Given the description of an element on the screen output the (x, y) to click on. 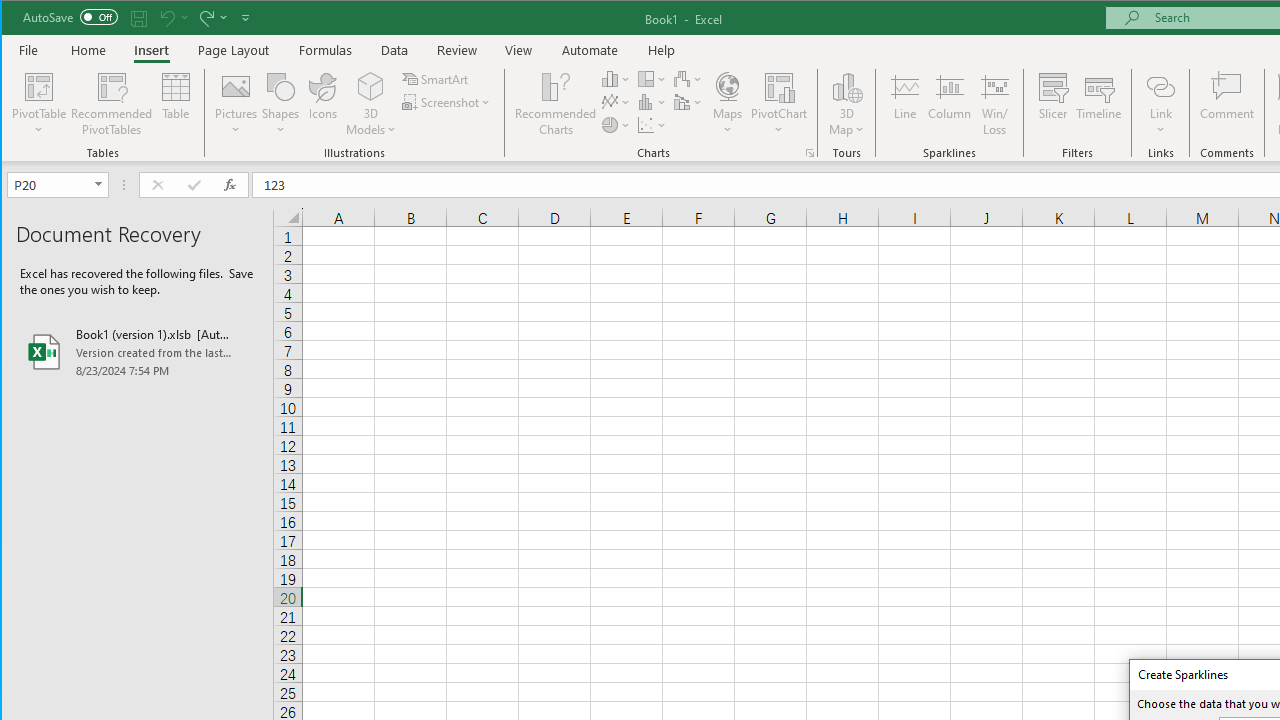
Timeline (1098, 104)
Table (175, 104)
Insert Column or Bar Chart (616, 78)
Recommended PivotTables (111, 104)
Pictures (235, 104)
Insert Line or Area Chart (616, 101)
Maps (727, 104)
Insert Statistic Chart (652, 101)
Link (1160, 104)
